Given the description of an element on the screen output the (x, y) to click on. 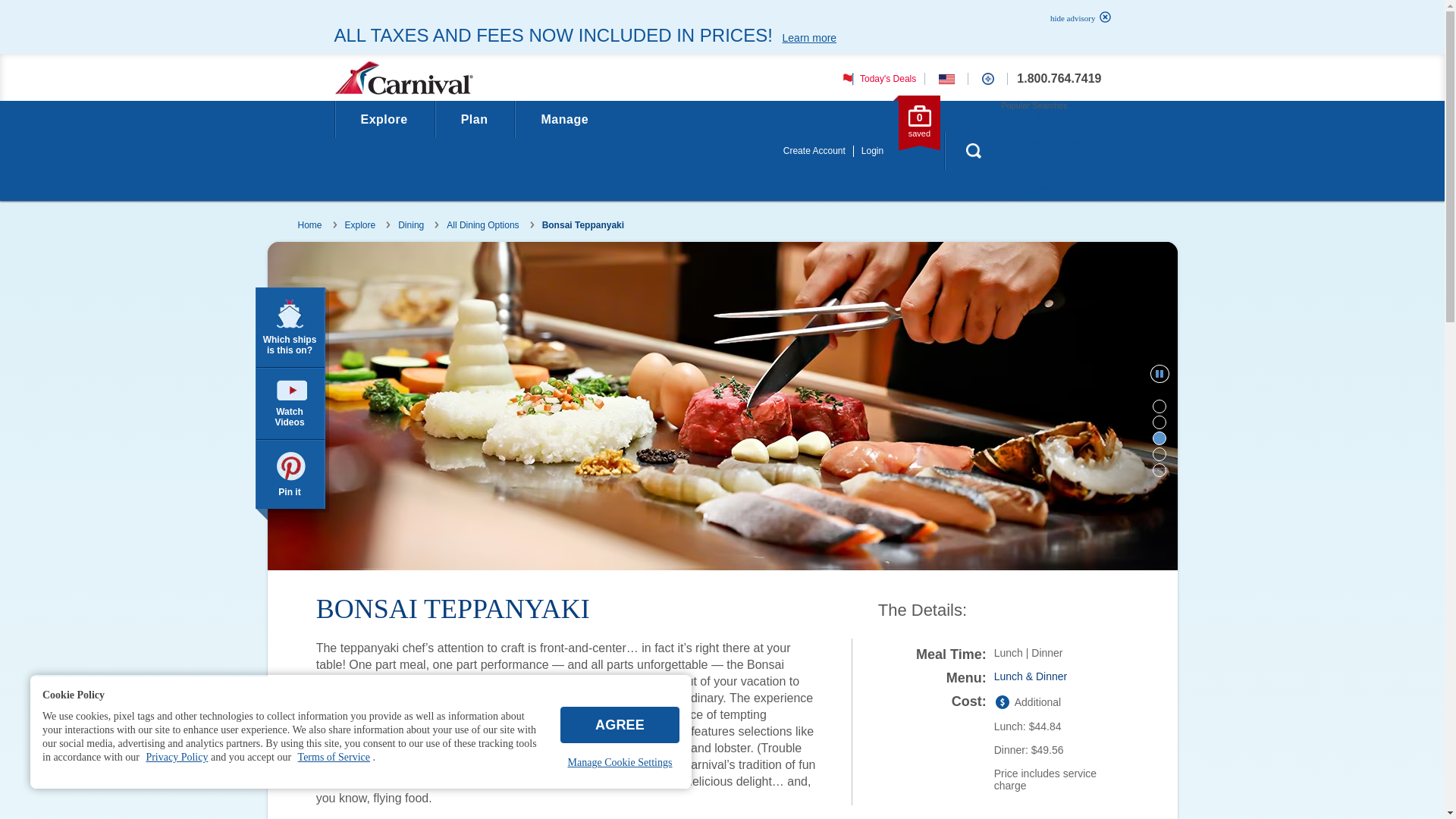
Explore (383, 119)
food is being cooked on a fire grill - Slide Number 4 of 5 (1159, 454)
hide advisory (1076, 18)
Today's Deals (876, 78)
Learn more (809, 38)
1.800.764.7419 (1058, 78)
